Given the description of an element on the screen output the (x, y) to click on. 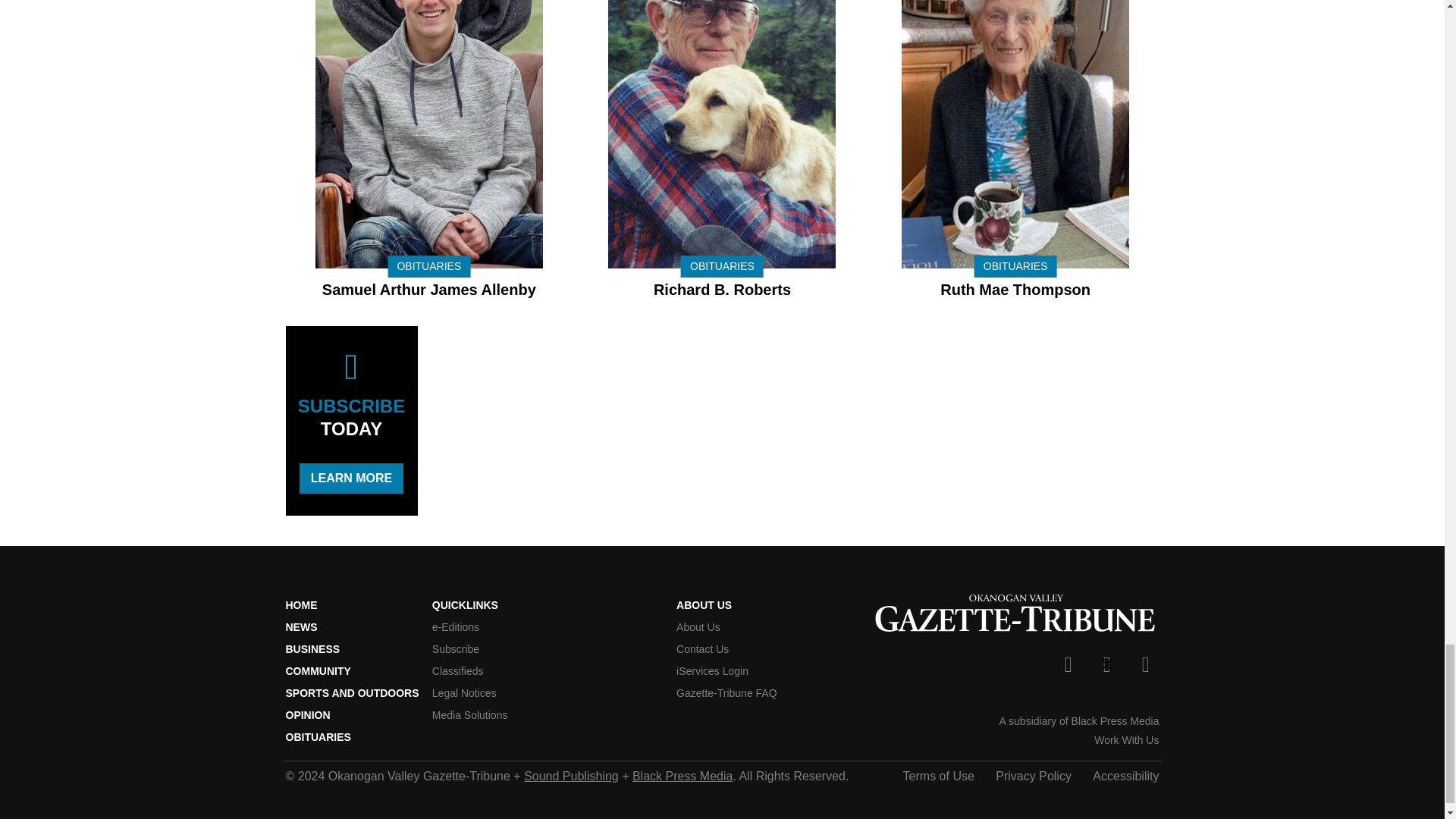
Gazette-Tribune (1015, 614)
